Given the description of an element on the screen output the (x, y) to click on. 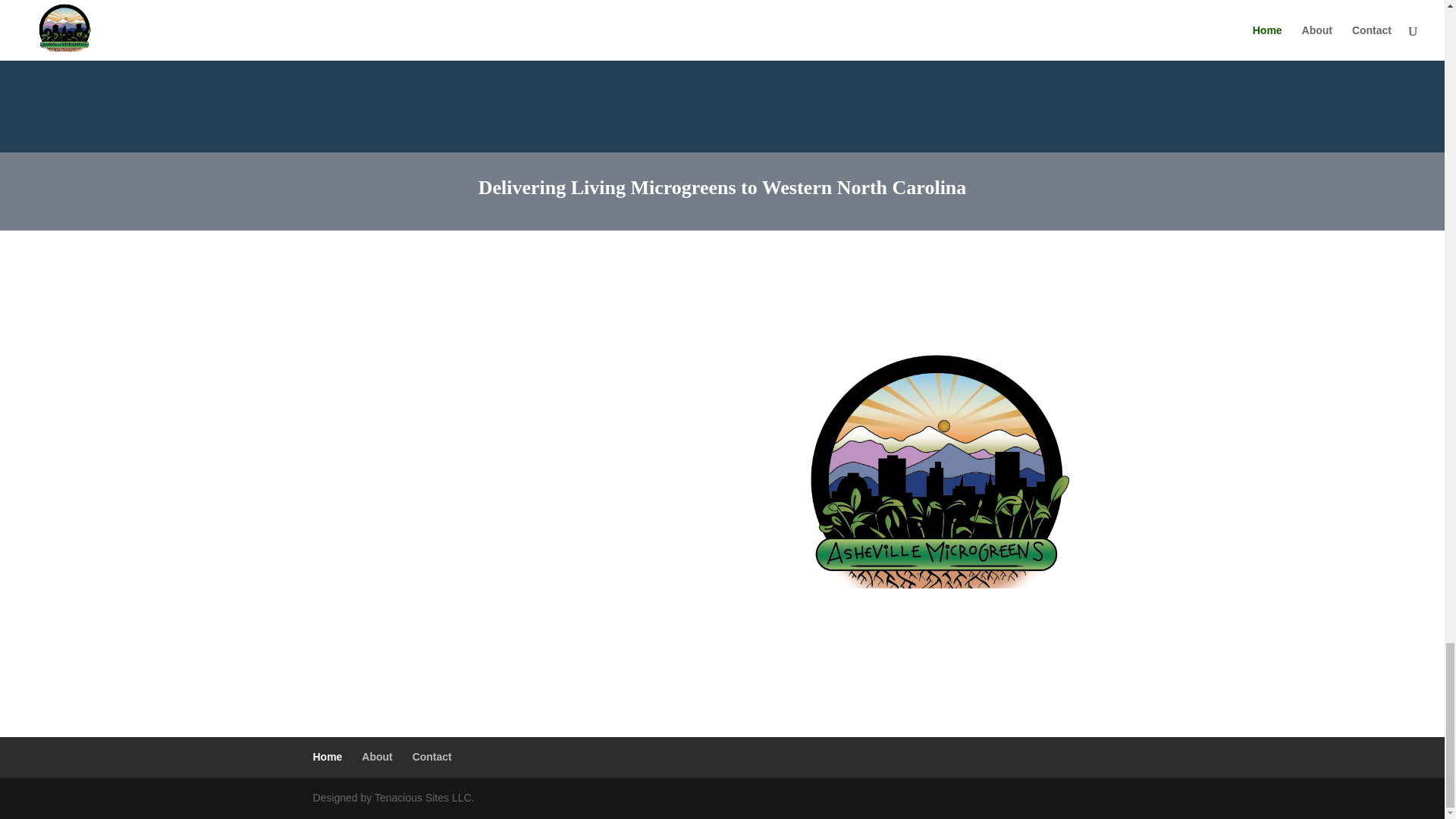
Contact (431, 756)
Home (327, 756)
About (376, 756)
